Given the description of an element on the screen output the (x, y) to click on. 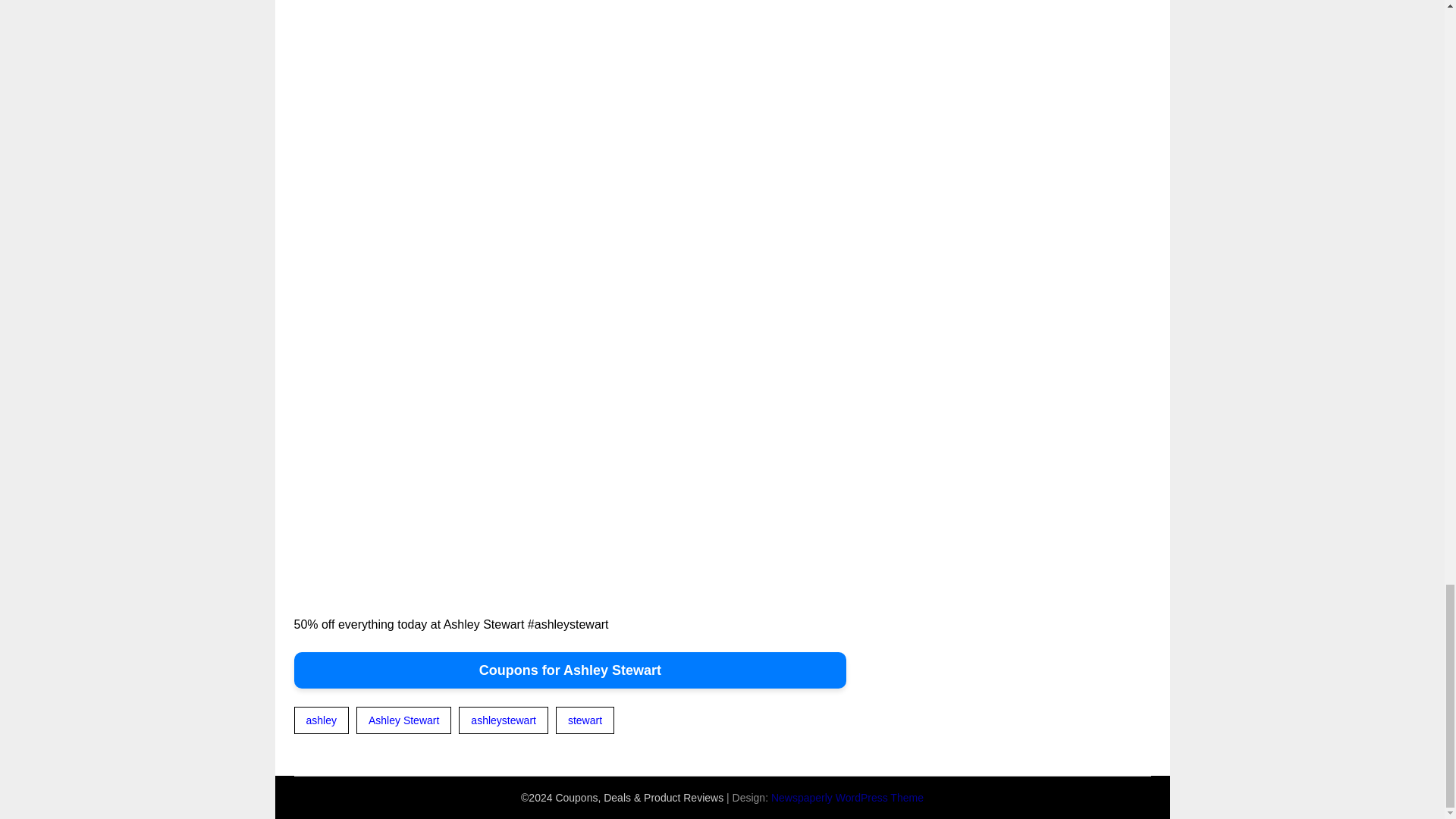
Newspaperly WordPress Theme (847, 797)
ashleystewart (503, 719)
Ashley Stewart (403, 719)
stewart (585, 719)
ashley (321, 719)
Coupons for Ashley Stewart (570, 669)
